Given the description of an element on the screen output the (x, y) to click on. 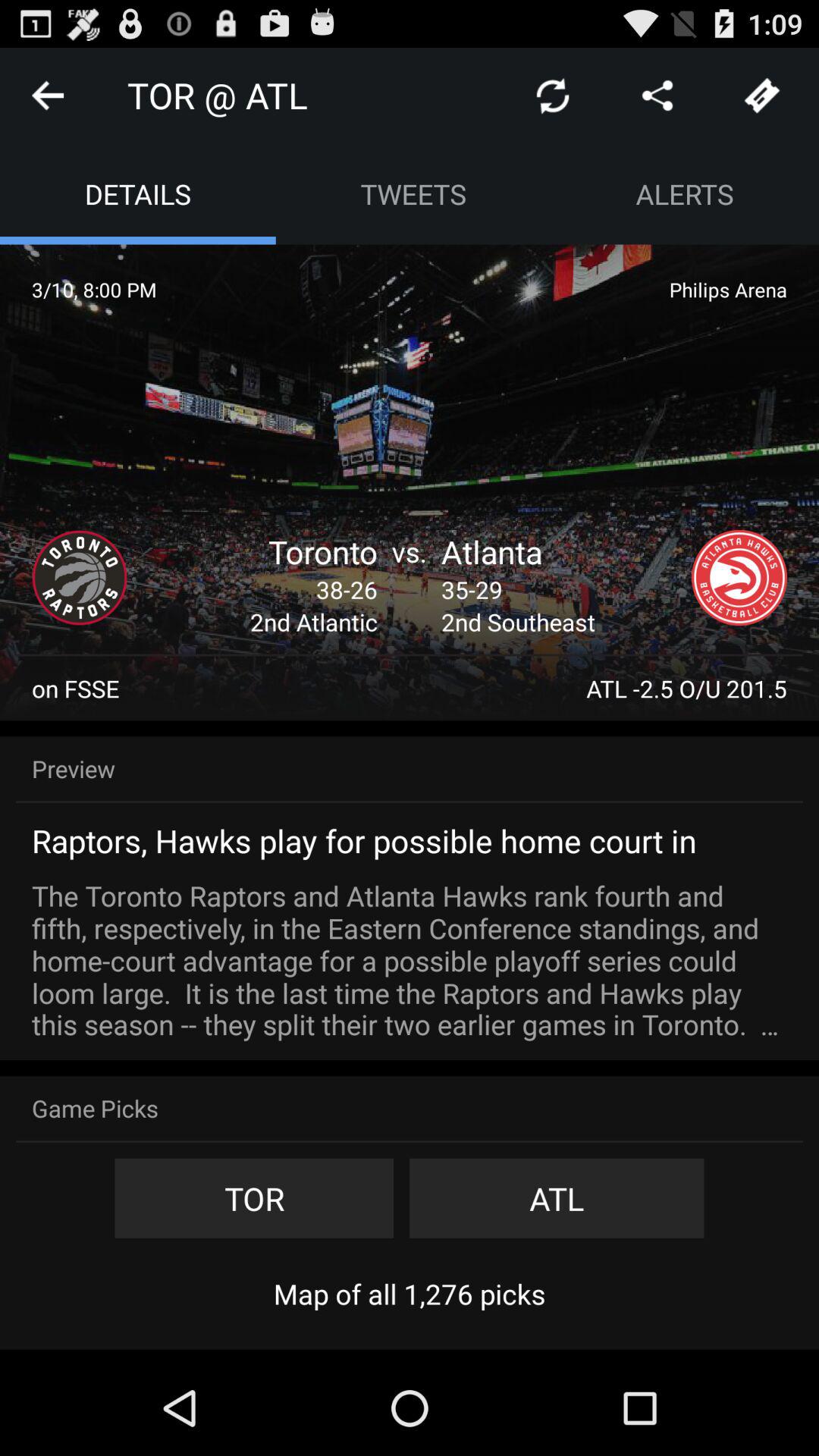
refresh page (552, 95)
